Given the description of an element on the screen output the (x, y) to click on. 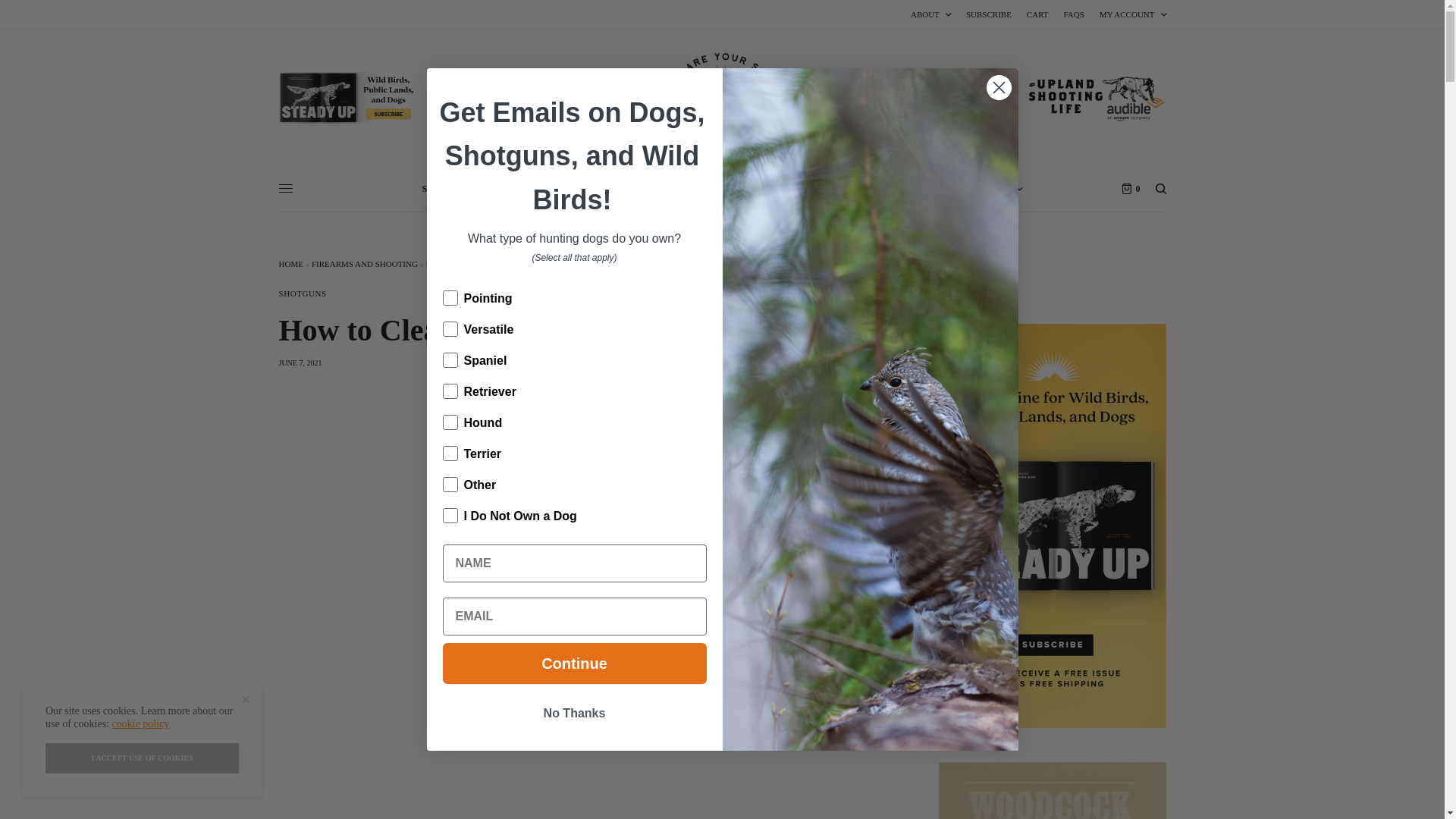
on (447, 285)
on (447, 378)
MY ACCOUNT (1132, 14)
Close dialog 1 (998, 87)
ABOUT (930, 14)
on (447, 502)
SUBSCRIBE (988, 14)
on (447, 471)
on (447, 409)
on (447, 440)
on (447, 316)
Project Upland (721, 97)
on (447, 347)
